Given the description of an element on the screen output the (x, y) to click on. 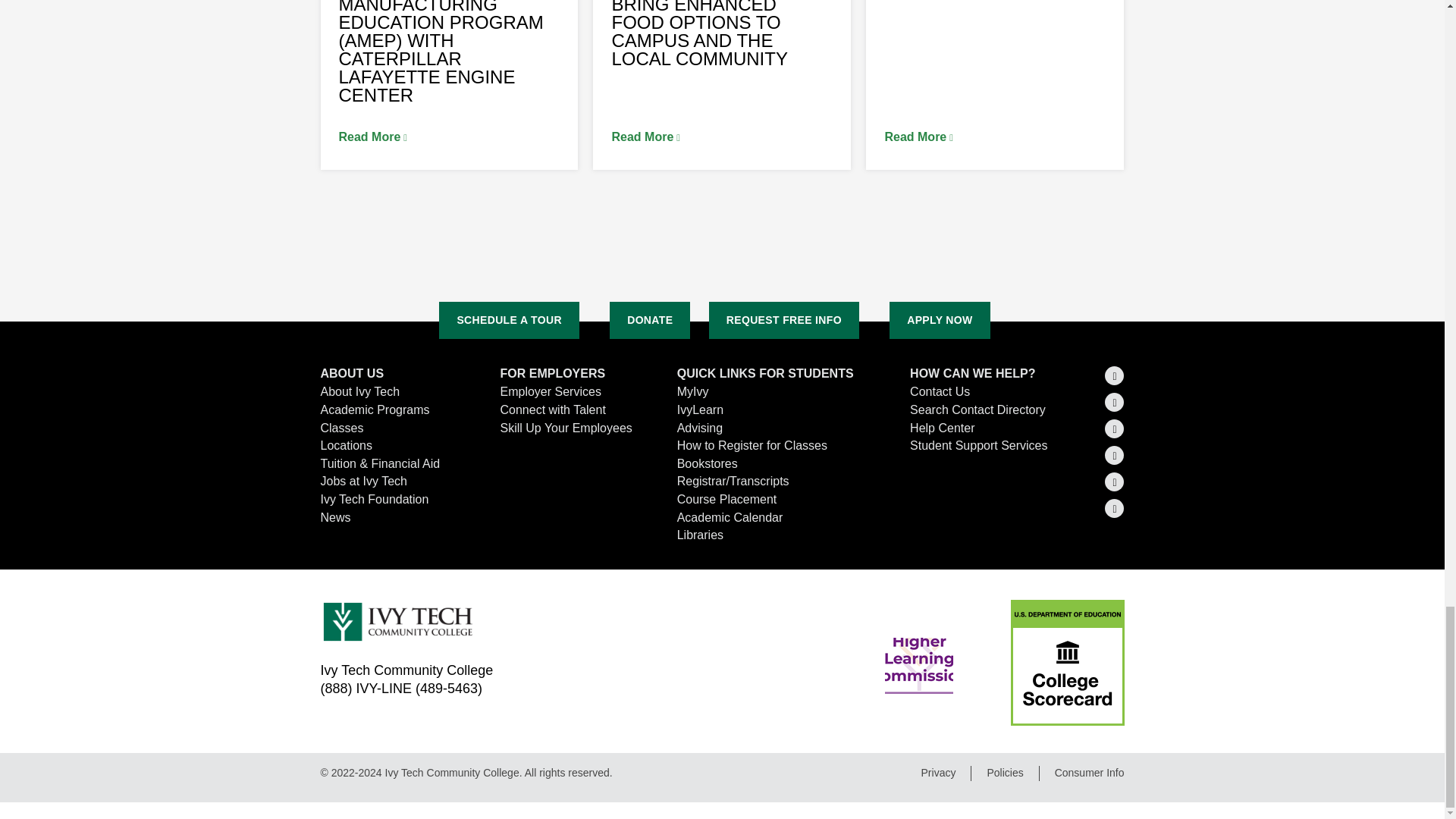
YouTube (1114, 481)
Facebook (1114, 428)
Twitter (1114, 375)
Glassdoor (1114, 507)
LinkedIn (1114, 402)
Instagram (1114, 455)
